Given the description of an element on the screen output the (x, y) to click on. 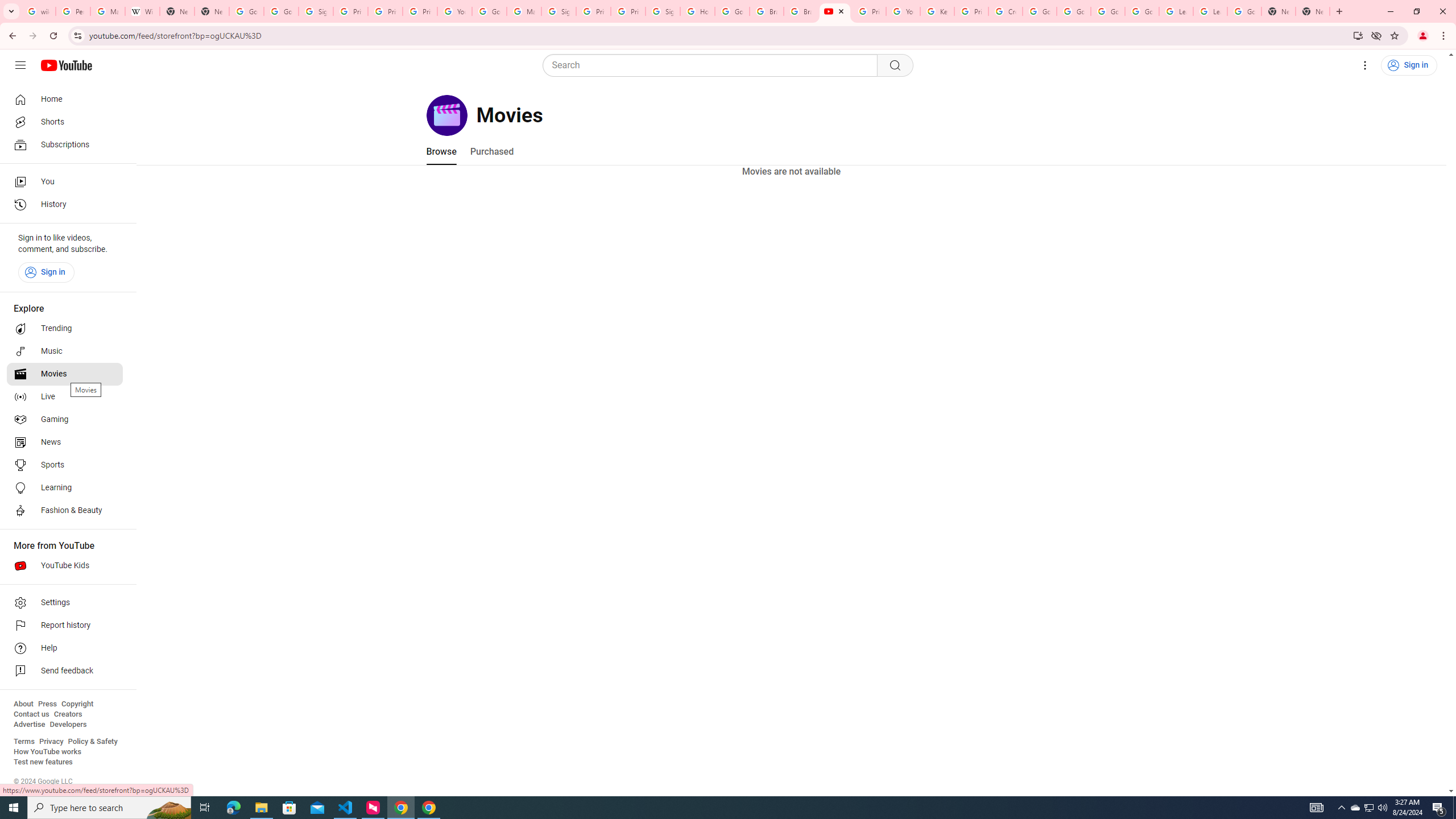
Test new features (42, 761)
Trending (64, 328)
Google Account Help (1107, 11)
Advertise (29, 724)
Install YouTube (1358, 35)
New Tab (211, 11)
YouTube (454, 11)
New Tab (1312, 11)
